Given the description of an element on the screen output the (x, y) to click on. 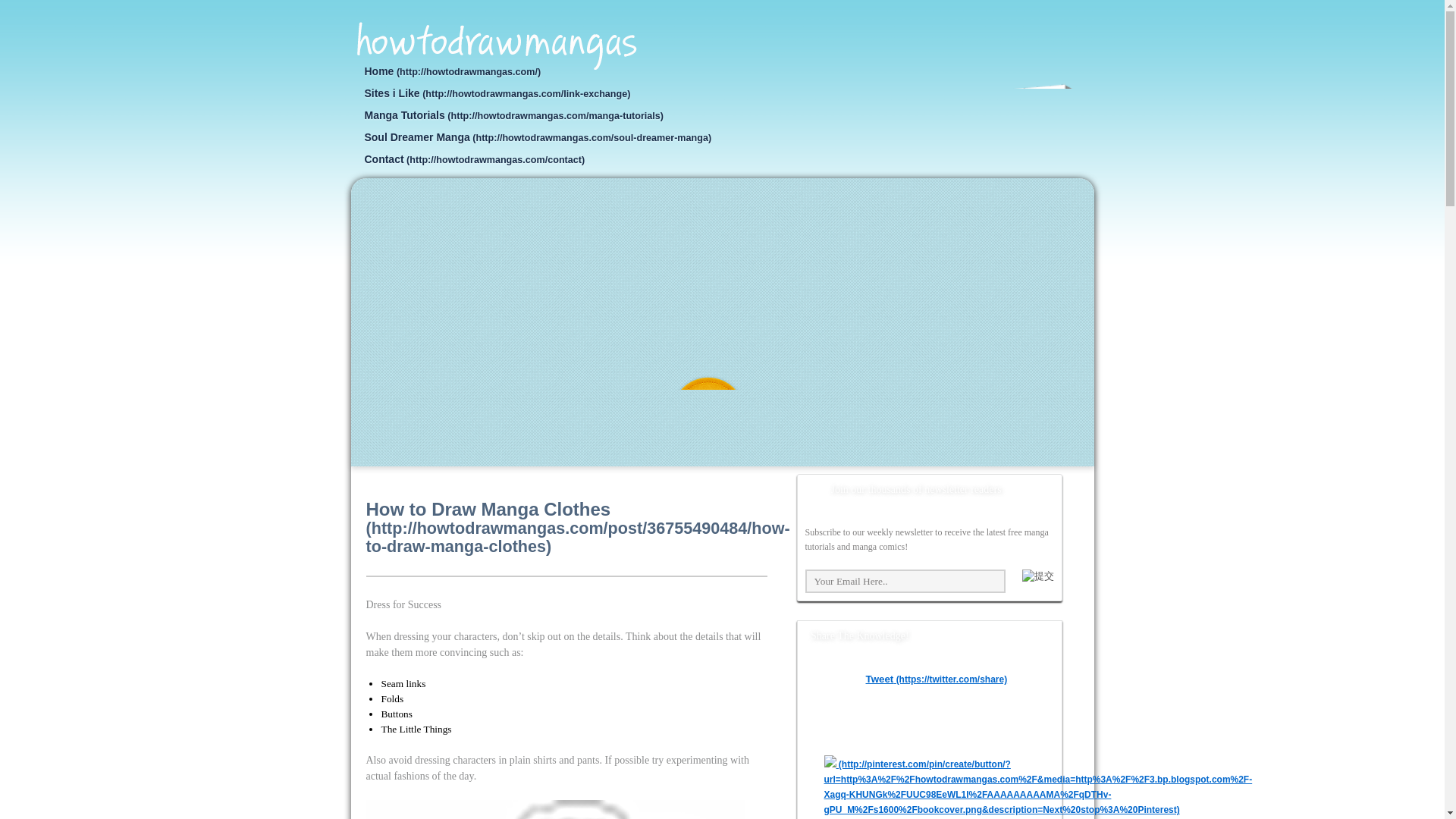
Home (451, 70)
Sites i Like (496, 92)
Manga Tutorials (512, 114)
Buy How to draw manga ebook (548, 412)
Contact (473, 159)
Your Email Here.. (905, 580)
How to Draw Manga Clothes (577, 527)
Soul Dreamer Manga (536, 137)
How To Draw Manga (496, 45)
